Given the description of an element on the screen output the (x, y) to click on. 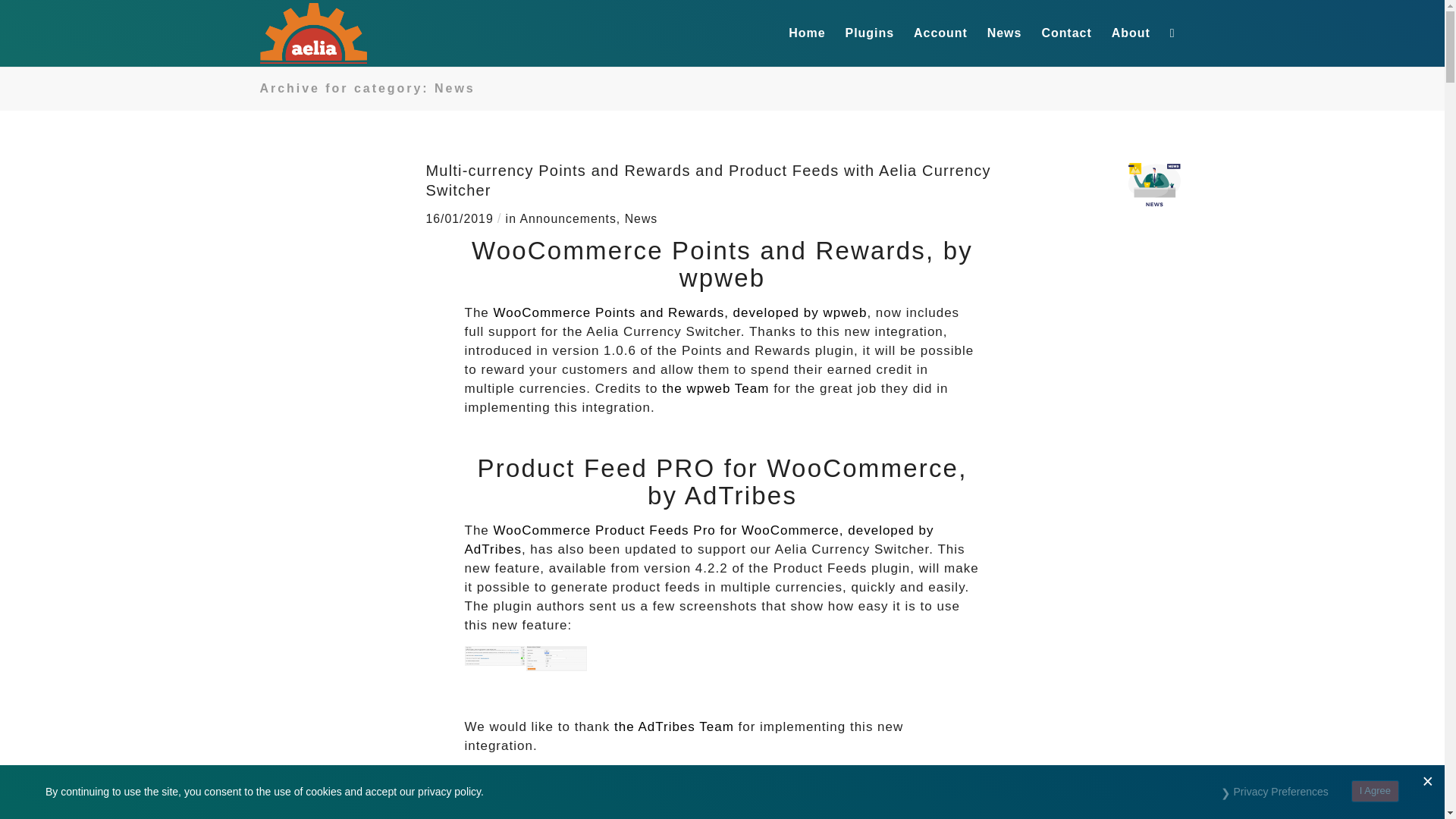
the AdTribes Team (673, 726)
News (641, 218)
Archive for category: News (366, 88)
Account (940, 33)
Permanent Link: Archive for category: News (366, 88)
Announcements (567, 218)
Plugins (869, 33)
the wpweb Team (715, 388)
Contact (1065, 33)
WooCommerce Points and Rewards, developed by wpweb (680, 312)
